Given the description of an element on the screen output the (x, y) to click on. 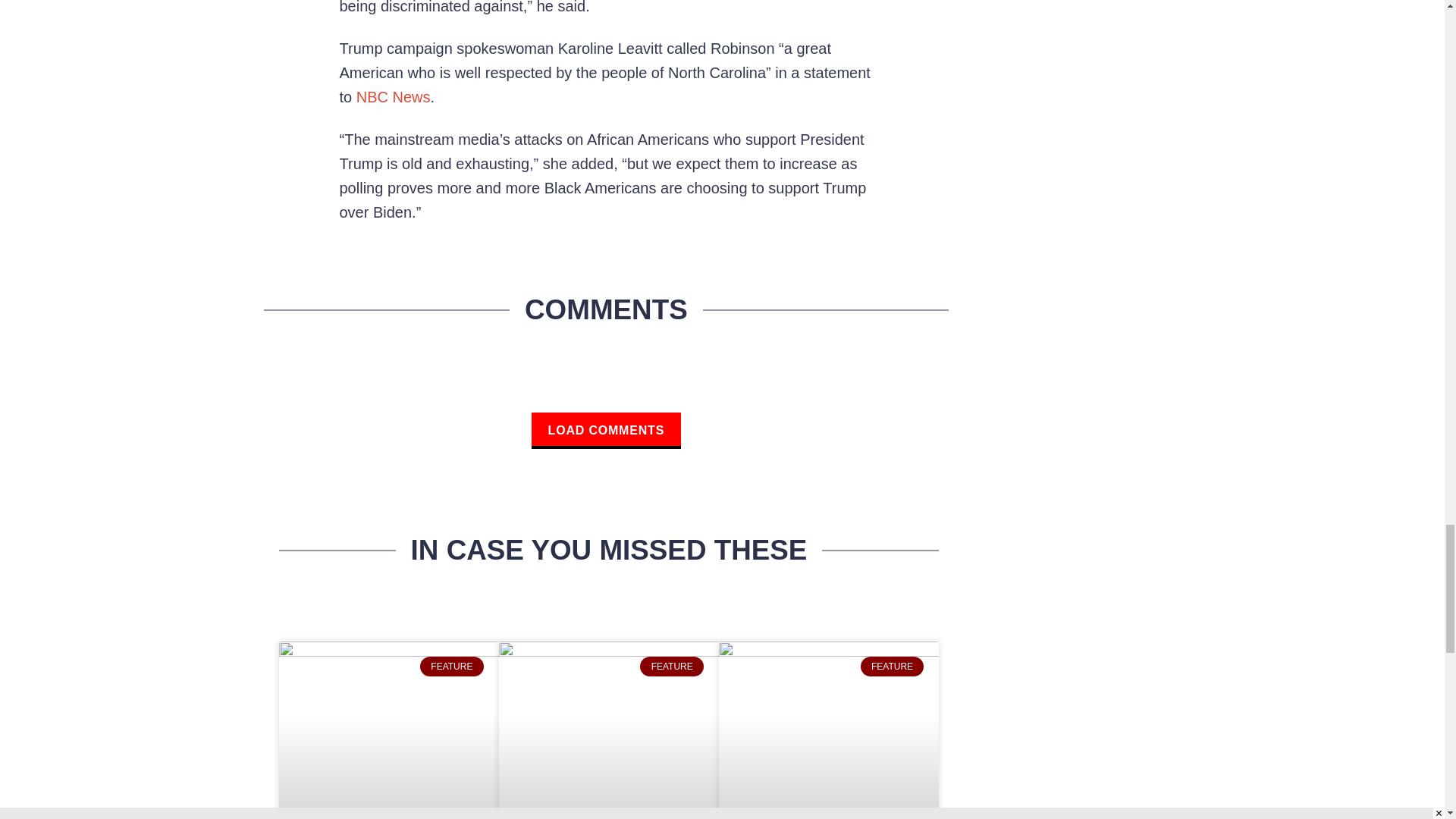
LOAD COMMENTS (606, 430)
NBC News (393, 96)
